Given the description of an element on the screen output the (x, y) to click on. 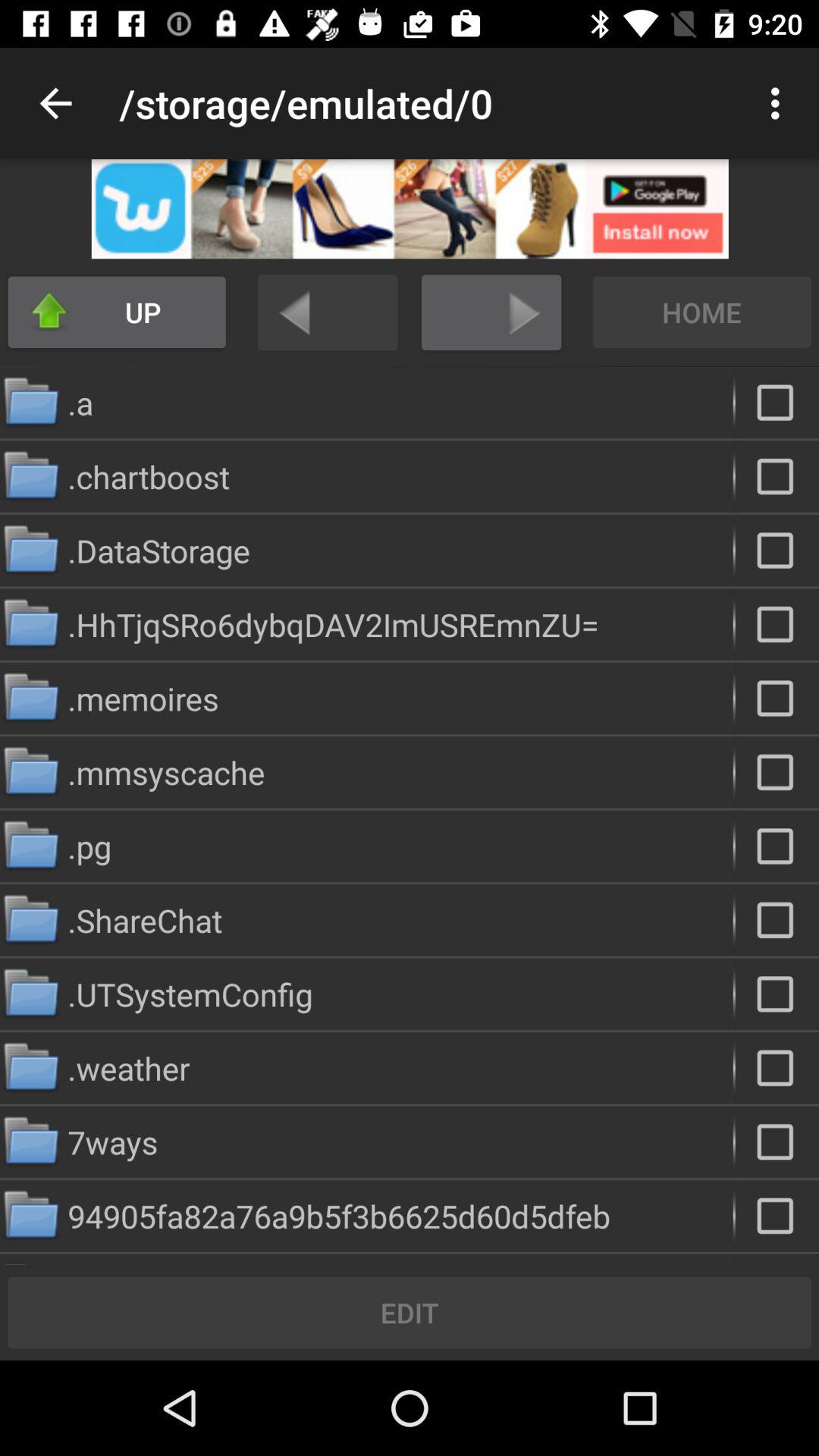
sharechat select button (777, 920)
